Given the description of an element on the screen output the (x, y) to click on. 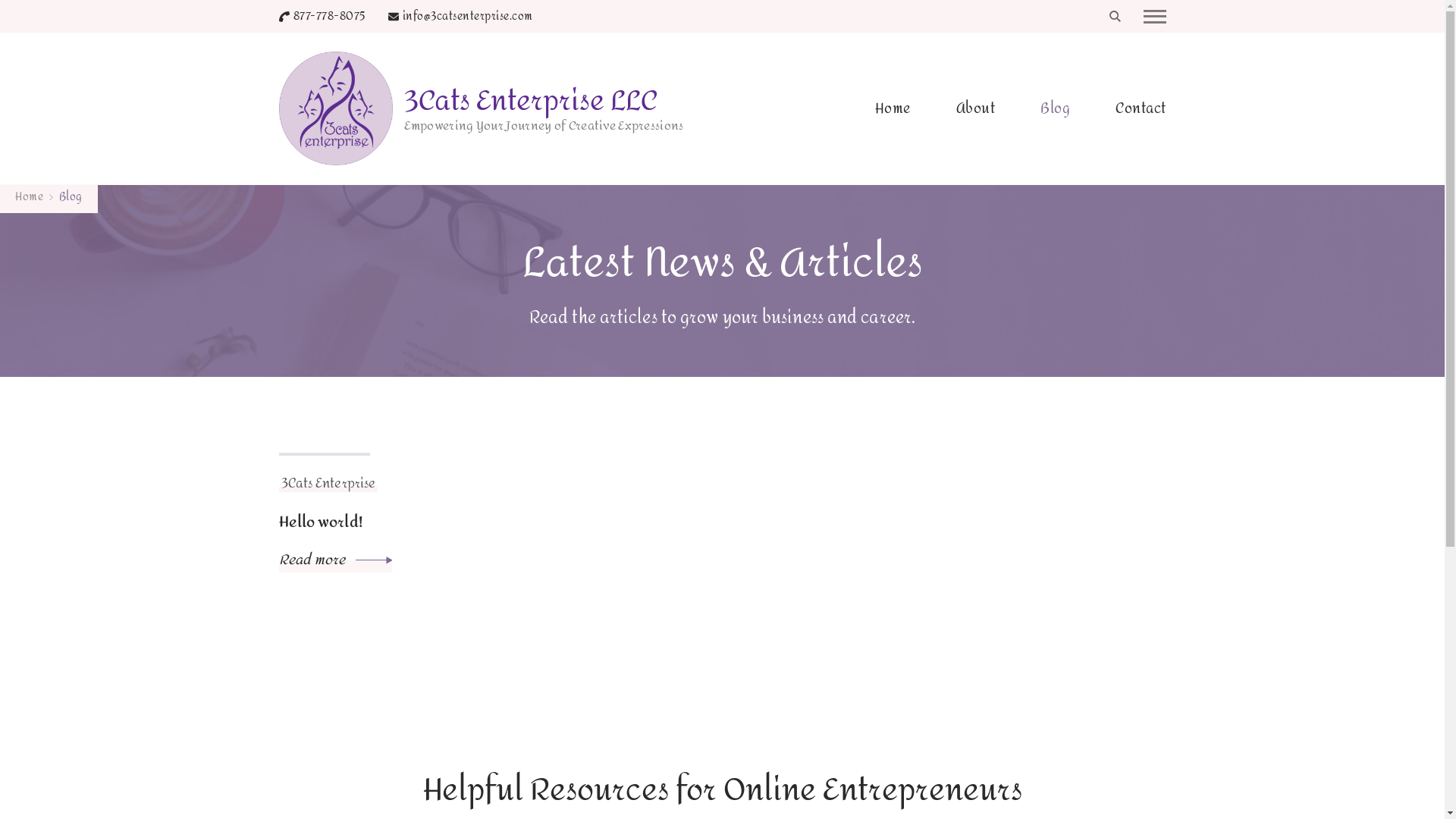
Read more Element type: text (335, 559)
Blog Element type: text (70, 196)
Hello world! Element type: text (320, 522)
877-778-8075 Element type: text (328, 16)
3Cats Enterprise Element type: text (328, 483)
April 3, 2022 Element type: text (324, 442)
info@3catsenterprise.com Element type: text (466, 16)
Home Element type: text (892, 108)
Home Element type: text (29, 196)
Blog Element type: text (1054, 108)
Contact Element type: text (1129, 108)
About Element type: text (974, 108)
3Cats Enterprise LLC Element type: text (529, 101)
